Given the description of an element on the screen output the (x, y) to click on. 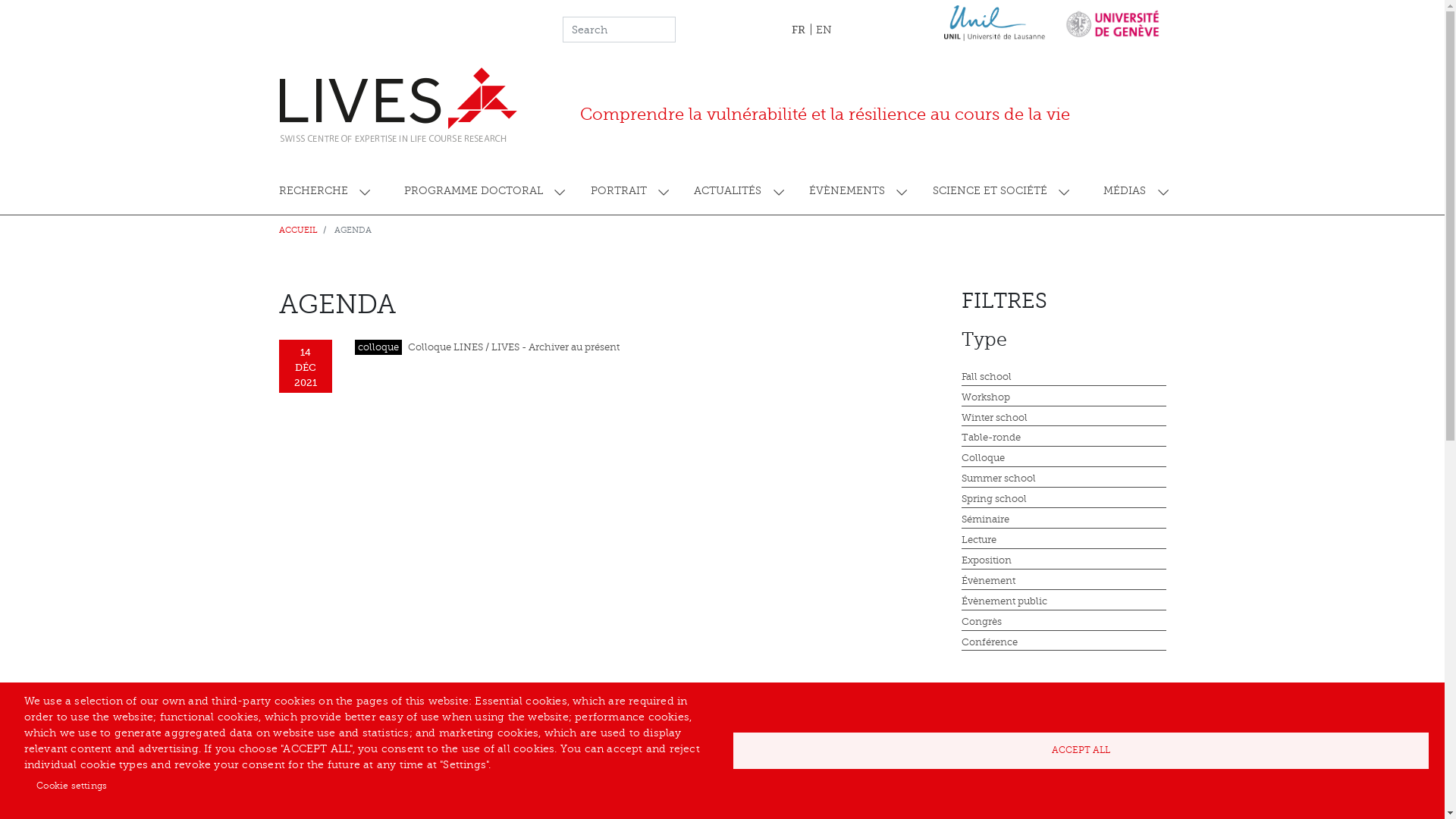
Accueil Element type: hover (402, 104)
2021 Element type: text (1063, 801)
PORTRAIT Element type: text (628, 190)
Winter school Element type: text (1063, 418)
Spring school Element type: text (1063, 499)
Cookie settings Element type: text (71, 786)
Table-ronde Element type: text (1063, 437)
PROGRAMME DOCTORAL Element type: text (482, 190)
ACCEPT ALL Element type: text (1080, 750)
2023 Element type: text (1063, 761)
Summer school Element type: text (1063, 478)
EN Element type: text (823, 29)
FR Element type: text (798, 28)
ACCUEIL Element type: text (298, 229)
Fall school Element type: text (1063, 377)
Lecture Element type: text (1063, 540)
Exposition Element type: text (1063, 560)
Aller au contenu principal Element type: text (721, 1)
2024 Element type: text (1063, 740)
2022 Element type: text (1063, 781)
RECHERCHE Element type: text (334, 190)
Workshop Element type: text (1063, 397)
Colloque Element type: text (1063, 458)
